Given the description of an element on the screen output the (x, y) to click on. 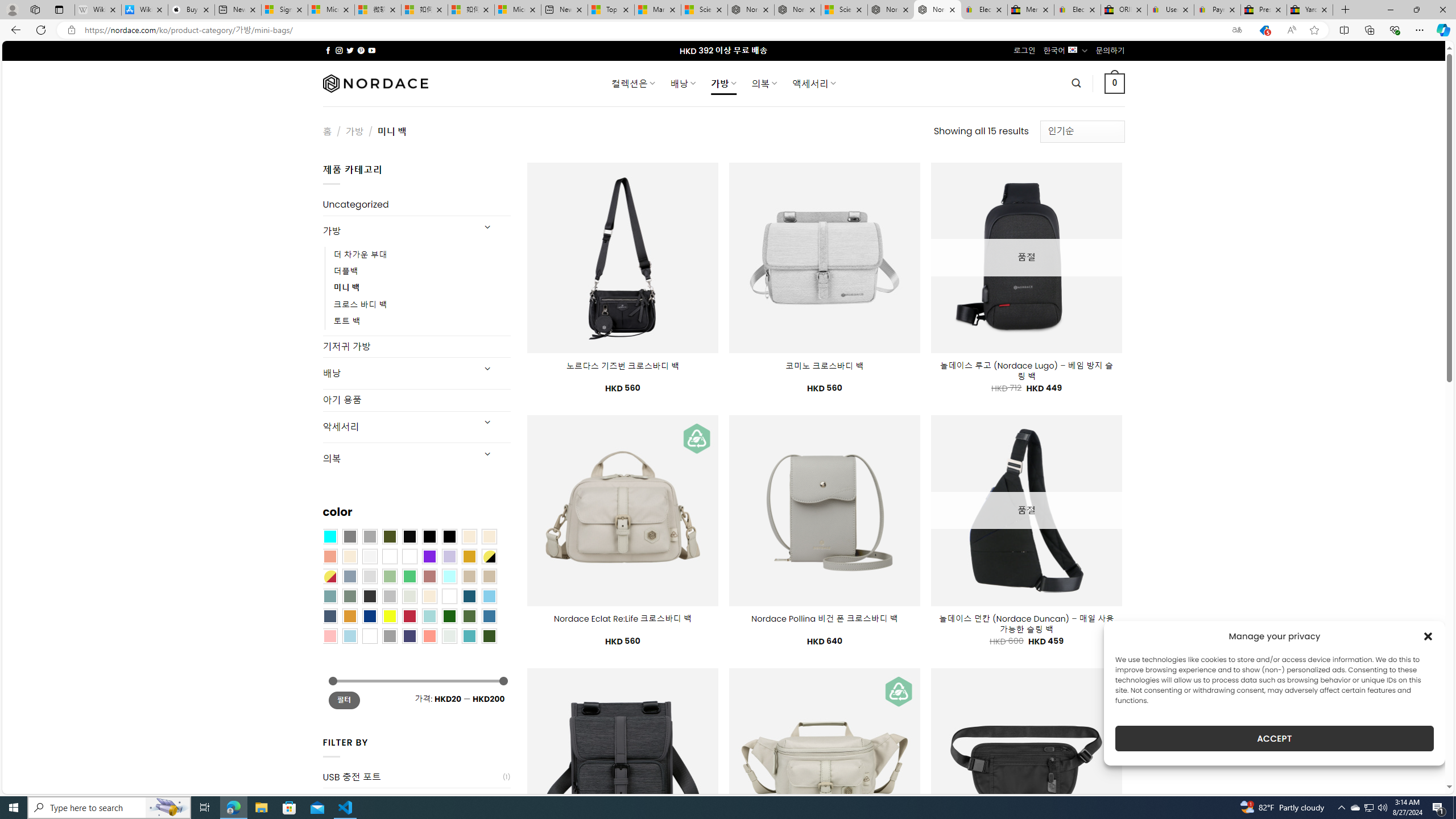
Cream (349, 555)
Follow on Instagram (338, 50)
Press Room - eBay Inc. (1263, 9)
 0  (1115, 83)
